Given the description of an element on the screen output the (x, y) to click on. 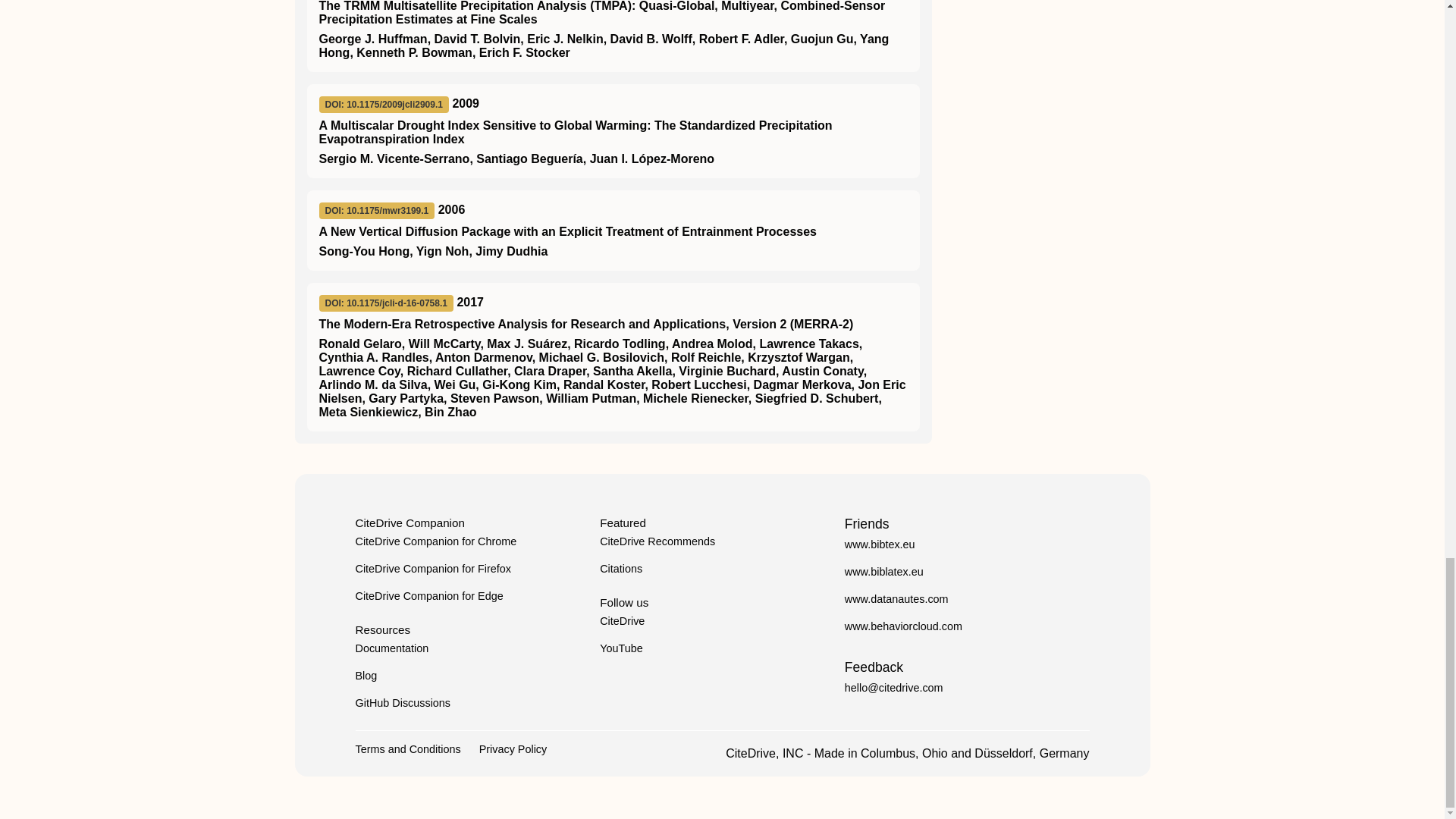
Citations (620, 568)
CiteDrive Companion for Edge (428, 595)
CiteDrive Recommends (656, 541)
Documentation (391, 648)
YouTube (621, 648)
Blog (366, 675)
CiteDrive Companion for Chrome (435, 541)
CiteDrive (622, 621)
GitHub Discussions (402, 702)
CiteDrive Companion for Firefox (433, 568)
